Given the description of an element on the screen output the (x, y) to click on. 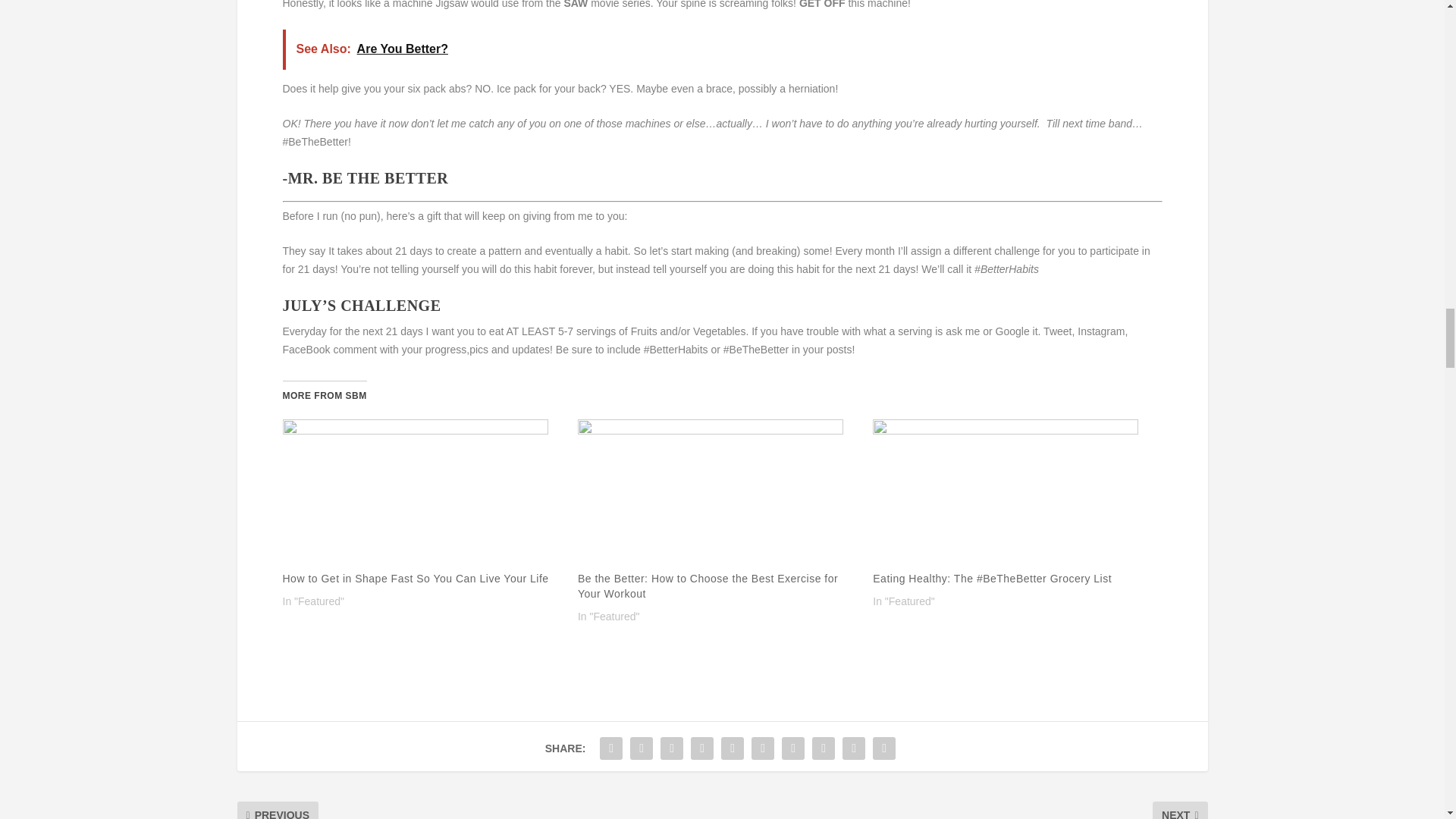
How to Get in Shape Fast So You Can Live Your Life (415, 578)
How to Get in Shape Fast So You Can Live Your Life (422, 494)
